Given the description of an element on the screen output the (x, y) to click on. 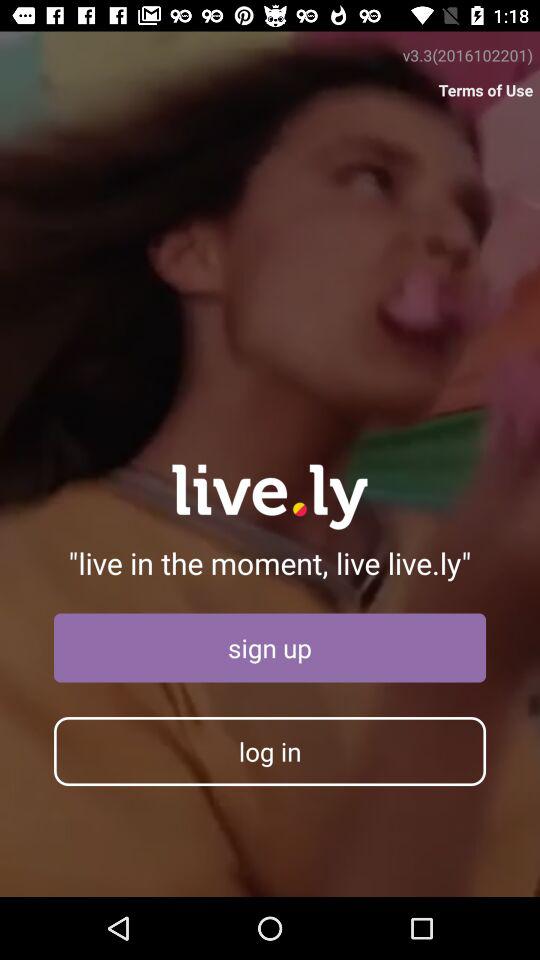
jump to log in (269, 751)
